Given the description of an element on the screen output the (x, y) to click on. 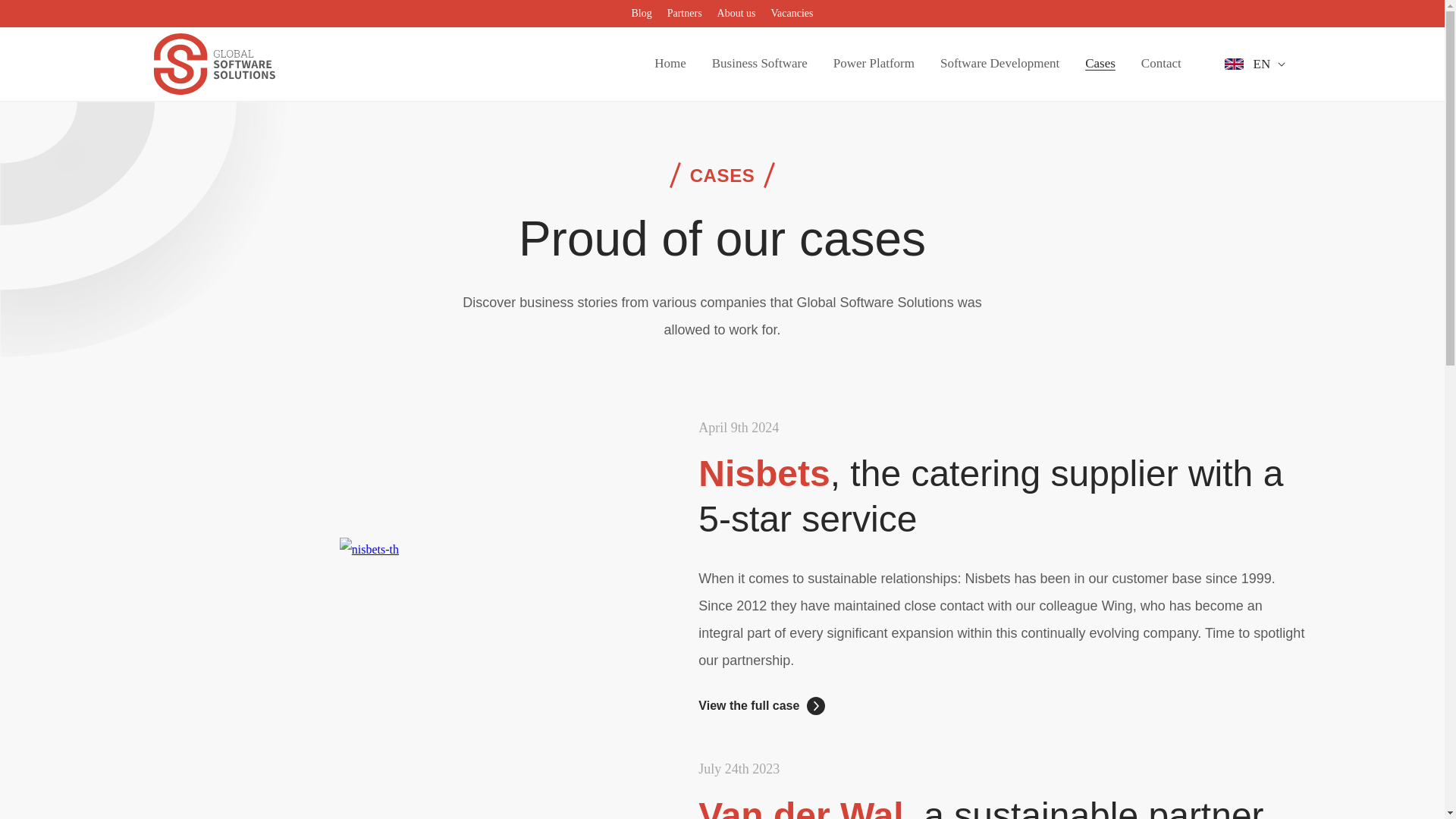
Contact (1160, 63)
Software Development (999, 63)
EN (1266, 63)
Cases (1099, 63)
Partners (683, 13)
About us (736, 13)
Skip to contents (45, 17)
Business Software (759, 63)
Power Platform (874, 63)
Home (670, 63)
